Given the description of an element on the screen output the (x, y) to click on. 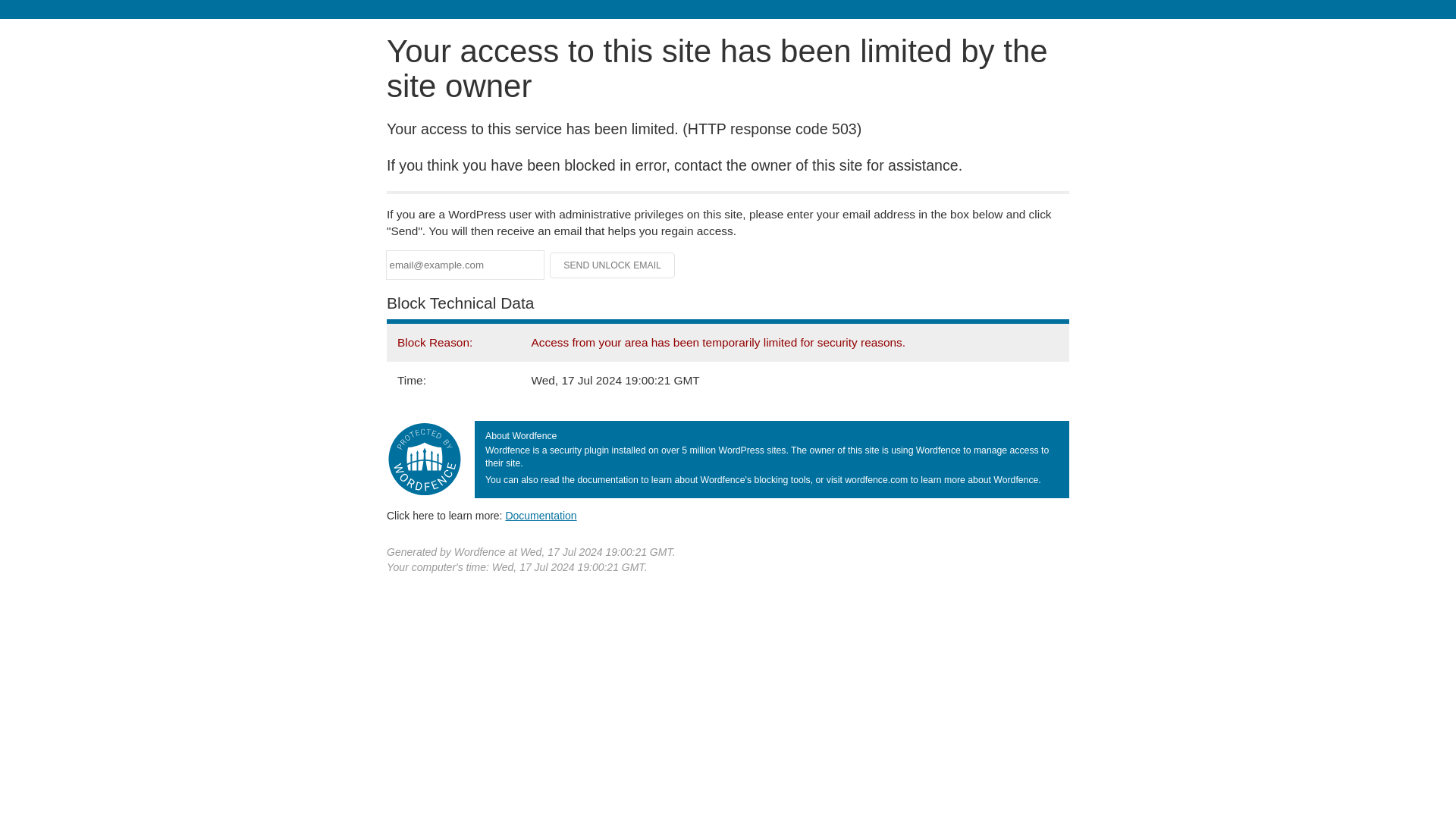
Documentation (540, 515)
Send Unlock Email (612, 265)
Send Unlock Email (612, 265)
